Given the description of an element on the screen output the (x, y) to click on. 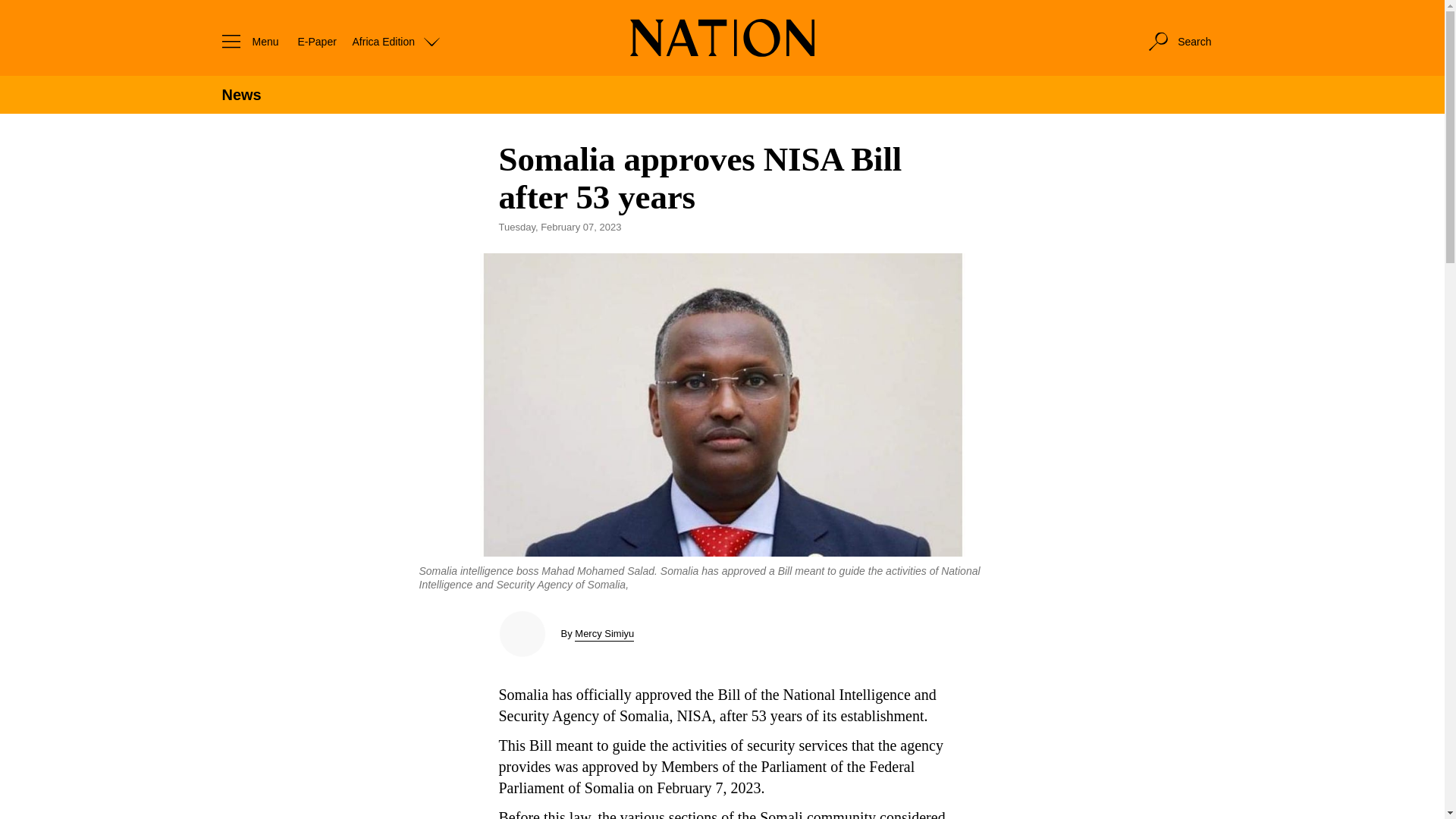
E-Paper (316, 41)
Search (1178, 41)
Menu (246, 41)
Mercy Simiyu (604, 633)
News (240, 94)
Africa Edition (396, 41)
